Given the description of an element on the screen output the (x, y) to click on. 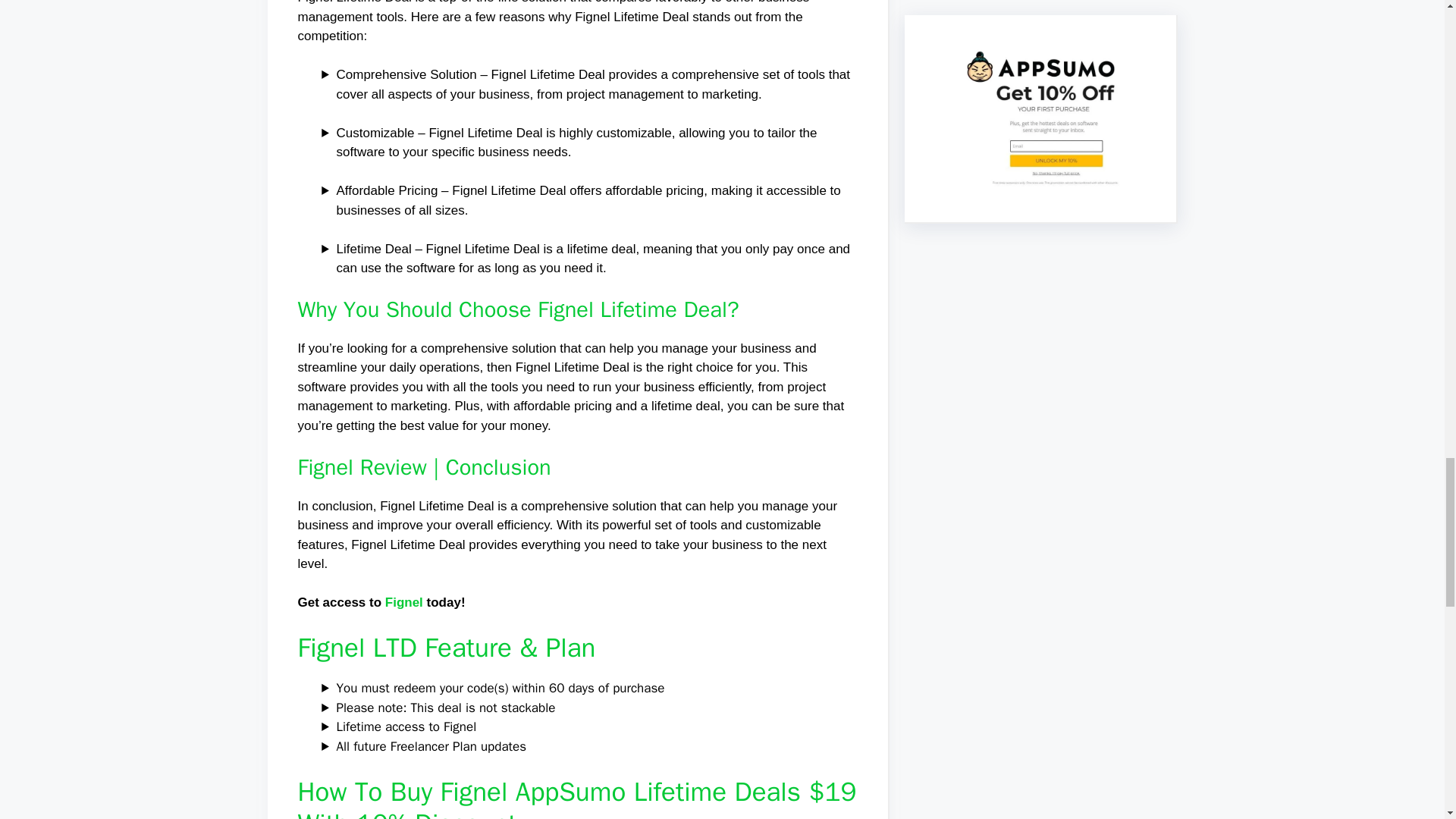
Fignel (404, 602)
